Given the description of an element on the screen output the (x, y) to click on. 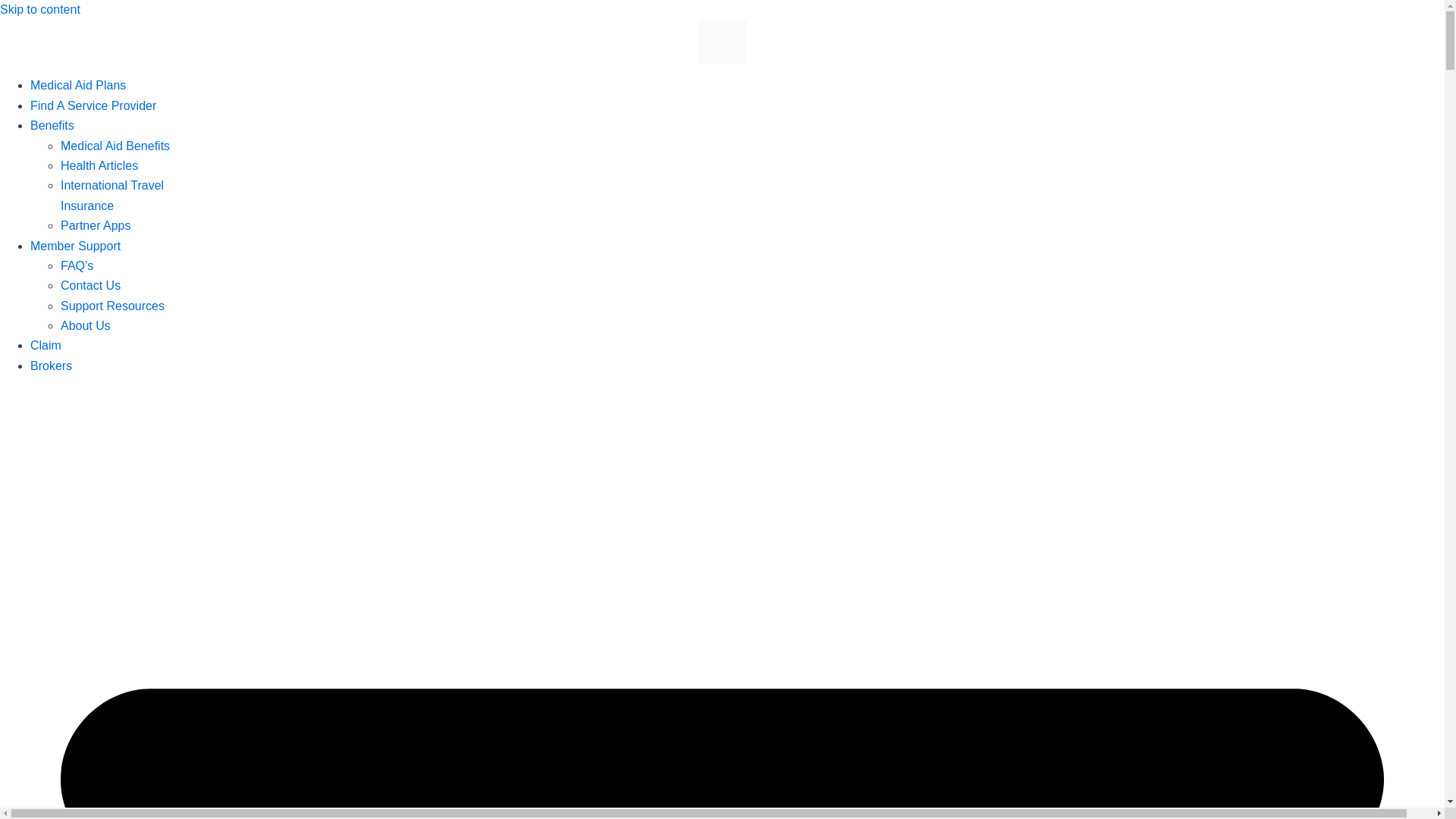
Brokers (50, 365)
About Us (85, 325)
Medical Aid Plans (77, 84)
Skip to content (40, 9)
Contact Us (90, 285)
Medical Aid Benefits (115, 145)
Claim (45, 345)
Health Articles (99, 164)
Skip to content (40, 9)
Find A Service Provider (92, 105)
